Given the description of an element on the screen output the (x, y) to click on. 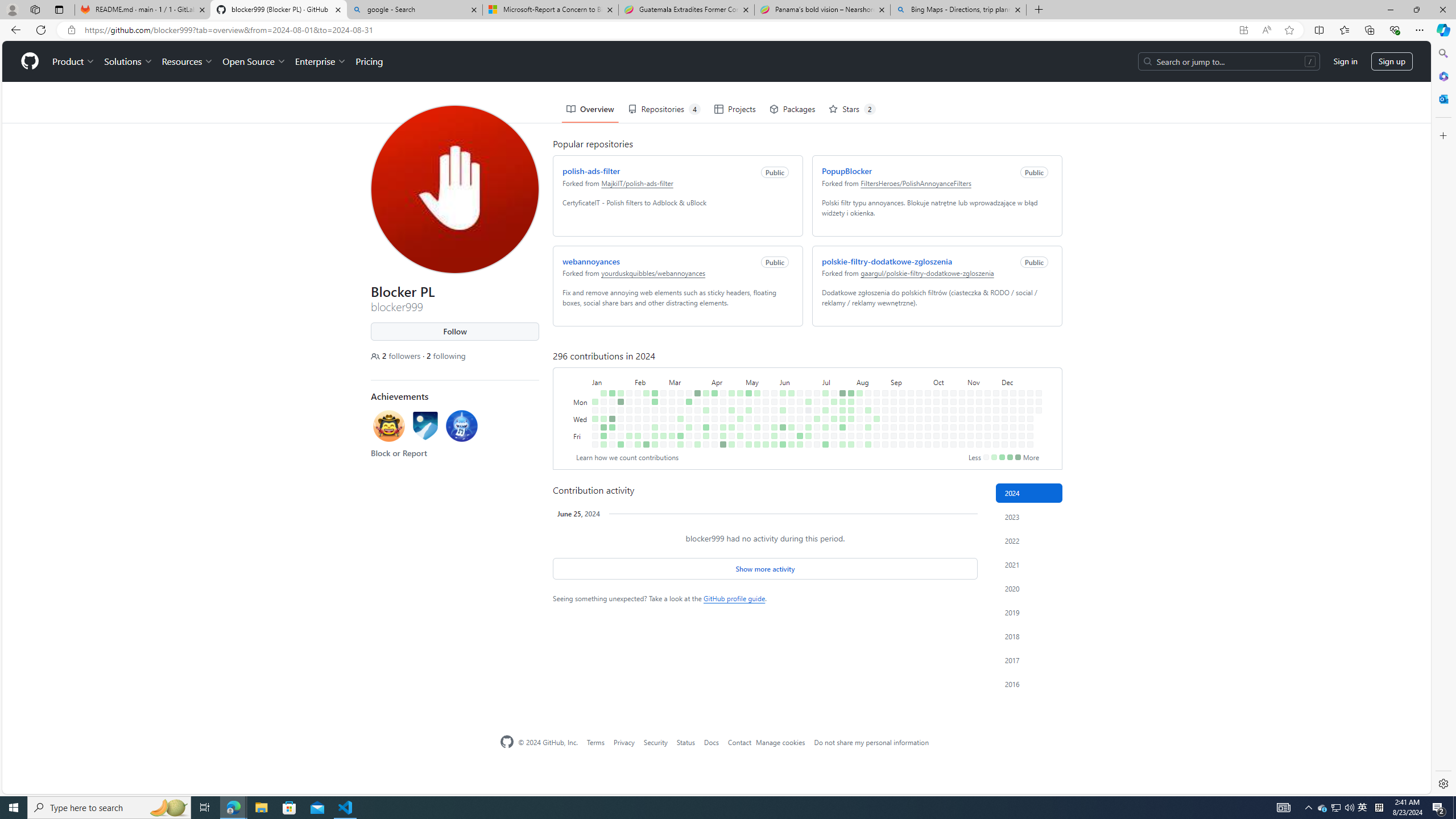
6 contributions on March 15th. (678, 394)
No contributions on May 29th. (771, 377)
No contributions on August 1st. (848, 386)
Contribution activity in 2021 (1028, 564)
No contributions on August 29th. (882, 386)
No contributions on November 11th. (976, 360)
No contributions on January 5th. (592, 394)
No contributions on December 21st. (1022, 444)
Do not share my personal information (870, 741)
No contributions on September 19th. (908, 386)
Follow (452, 290)
No contributions on August 27th. (882, 369)
3 contributions on January 7th. (601, 351)
13 contributions on January 17th. (609, 377)
